Given the description of an element on the screen output the (x, y) to click on. 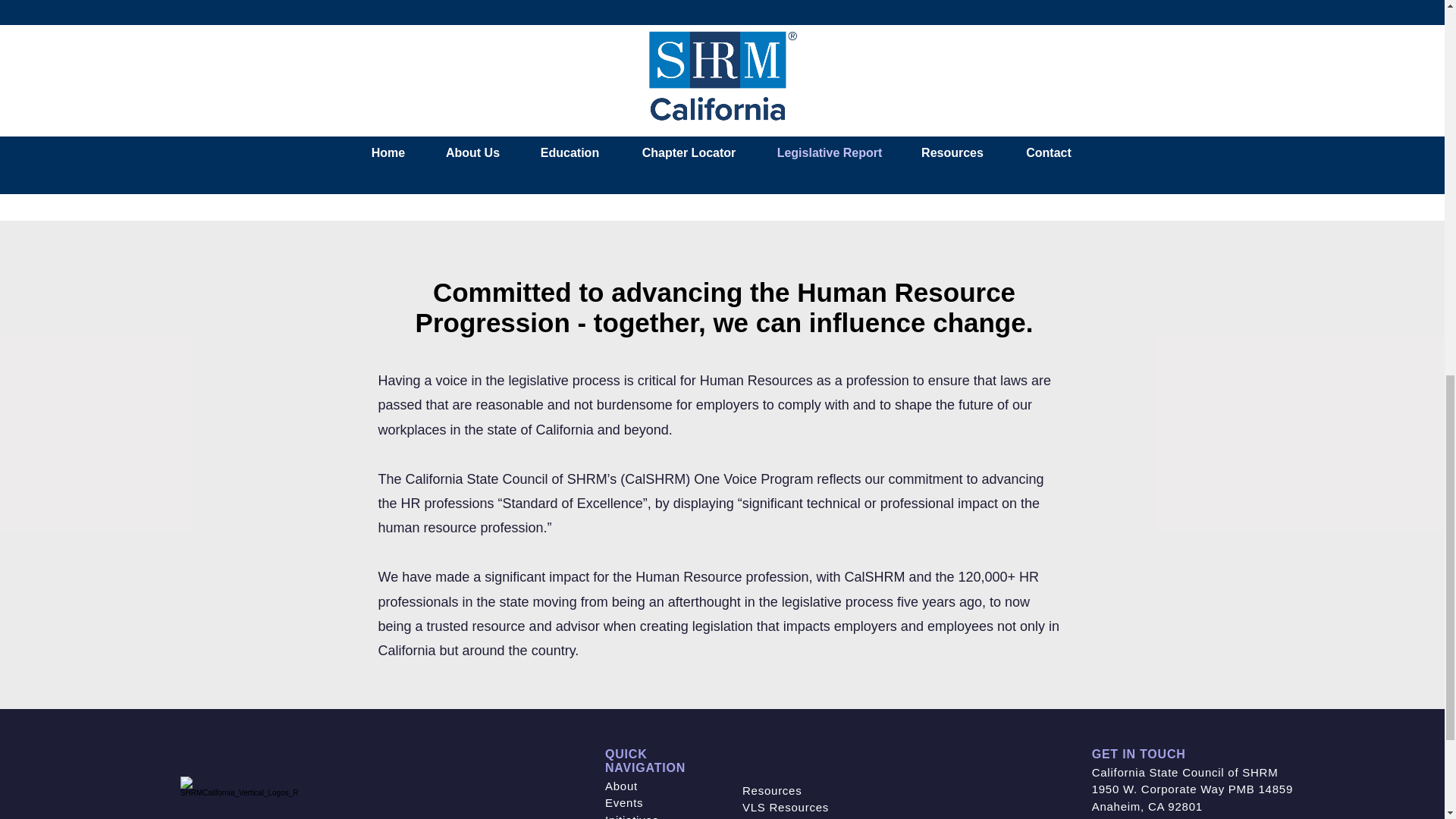
Contact (764, 818)
4abcf404ec1b63bb92236e24bbffbb86.jpg (1127, 54)
VLS Resources (785, 807)
Events (624, 802)
1-866-750-7190 (1136, 817)
About (621, 785)
Initiatives (632, 816)
Resources (772, 789)
Subscribe (1128, 171)
